Given the description of an element on the screen output the (x, y) to click on. 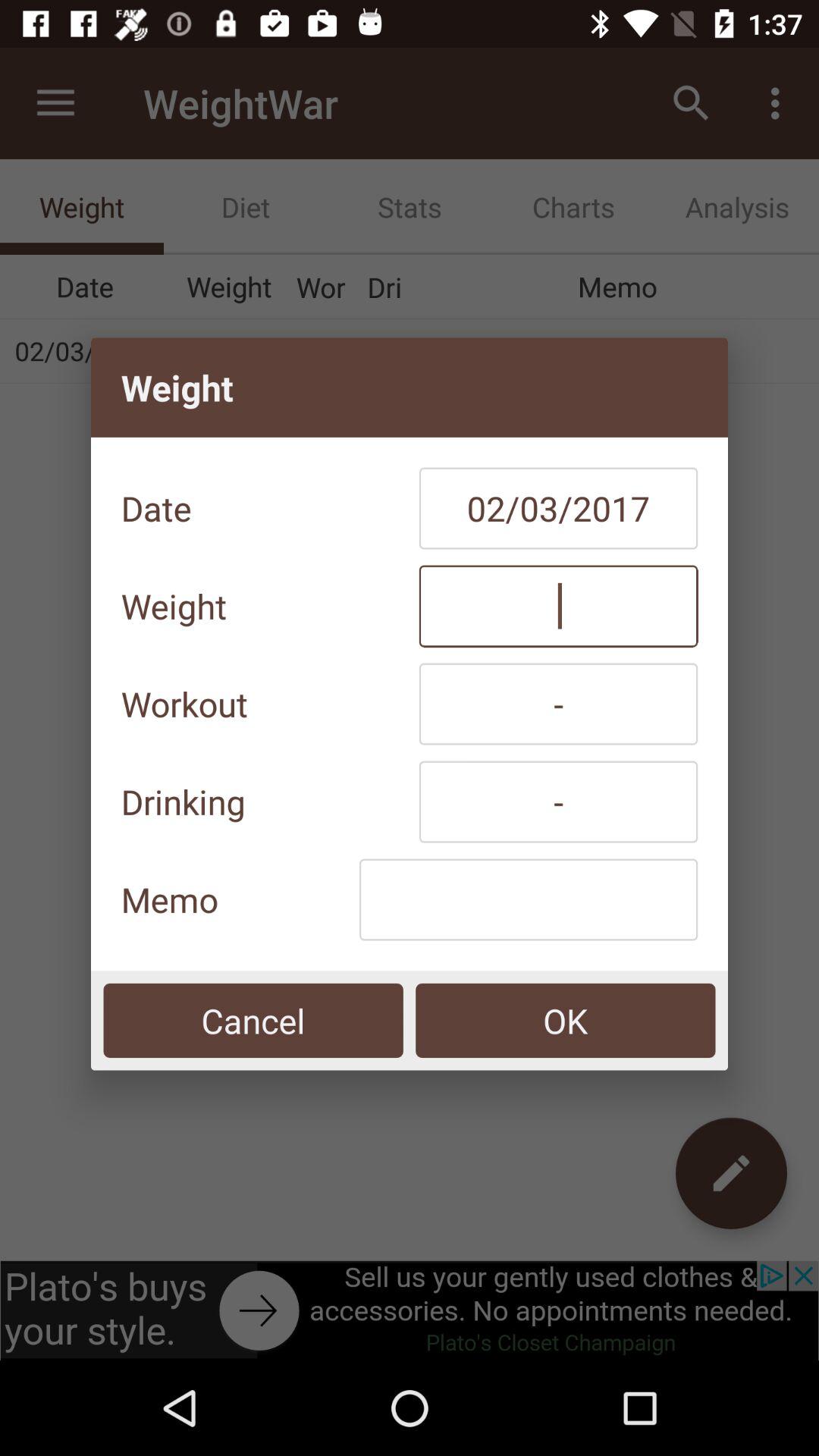
tap icon below the memo icon (253, 1020)
